Given the description of an element on the screen output the (x, y) to click on. 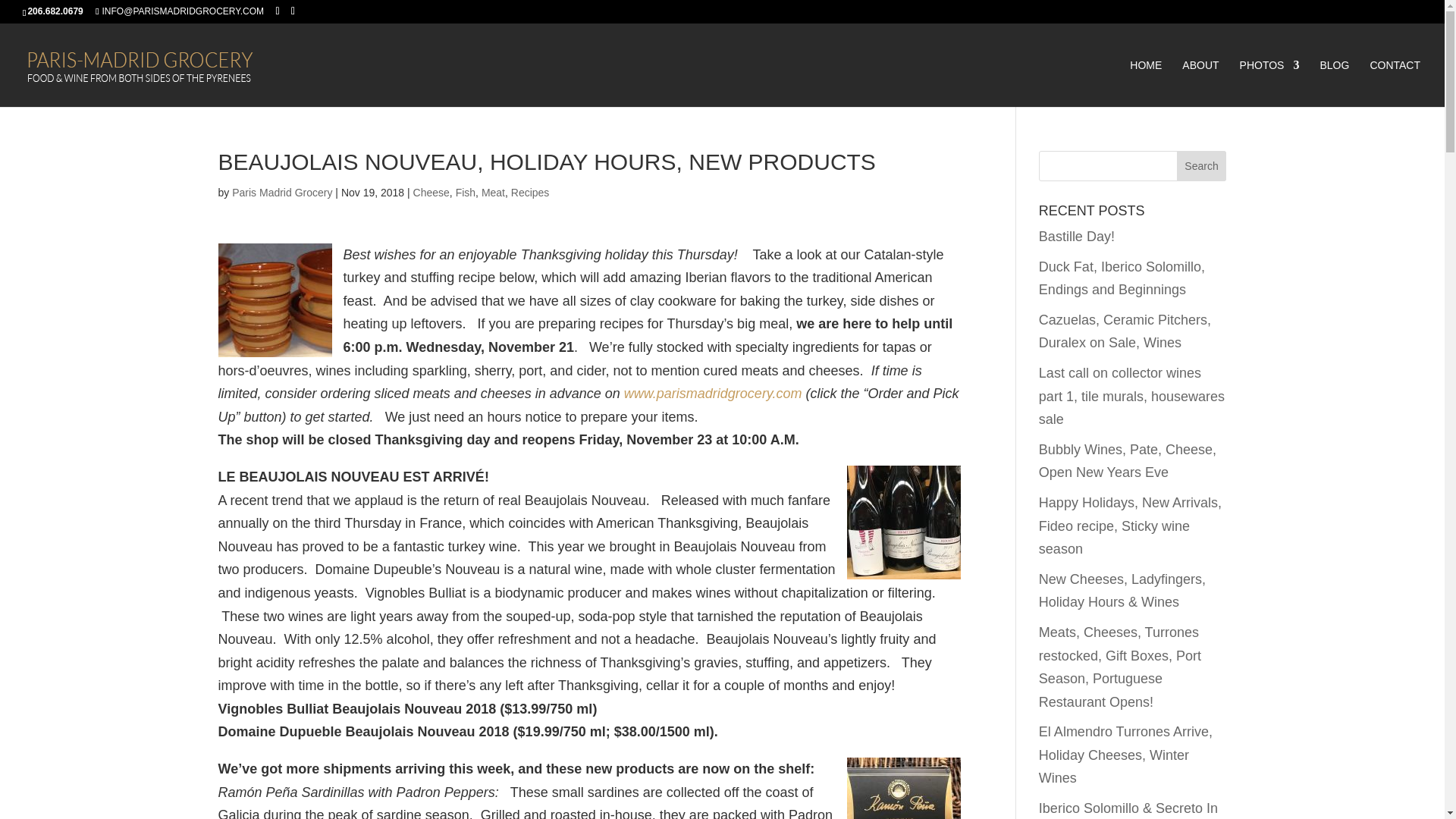
Duck Fat, Iberico Solomillo, Endings and Beginnings (1122, 278)
Recipes (530, 192)
CONTACT (1395, 83)
Paris Madrid Grocery (281, 192)
Posts by Paris Madrid Grocery (281, 192)
Cheese (431, 192)
www.parismadridgrocery.com (713, 393)
Search (1201, 165)
Cazuelas, Ceramic Pitchers, Duralex on Sale, Wines (1125, 331)
Bastille Day! (1077, 236)
Meat (493, 192)
Search (1201, 165)
PHOTOS (1270, 83)
Fish (465, 192)
